Given the description of an element on the screen output the (x, y) to click on. 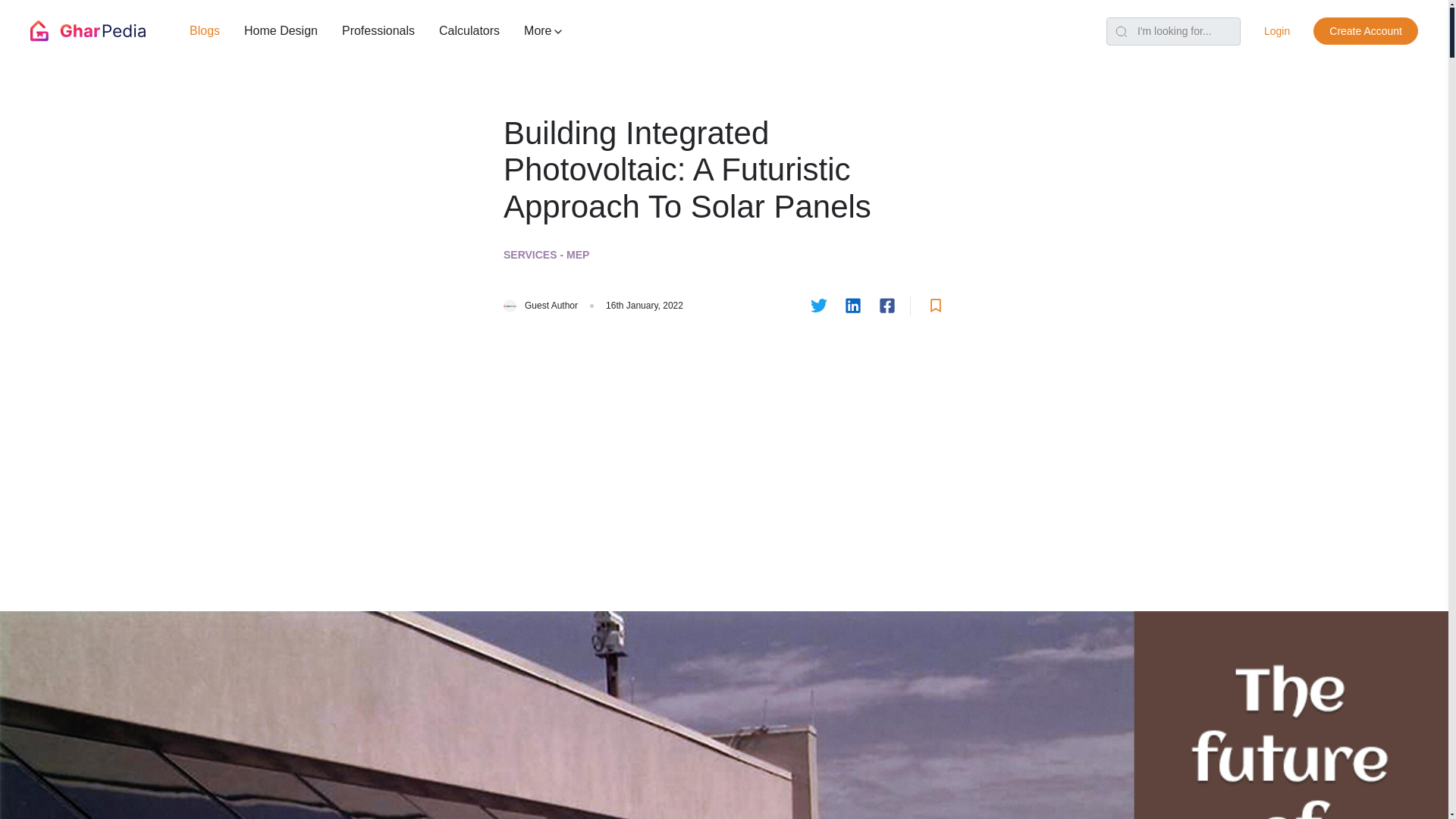
Blogs (204, 30)
Home Design (280, 30)
Facebook (887, 305)
